Given the description of an element on the screen output the (x, y) to click on. 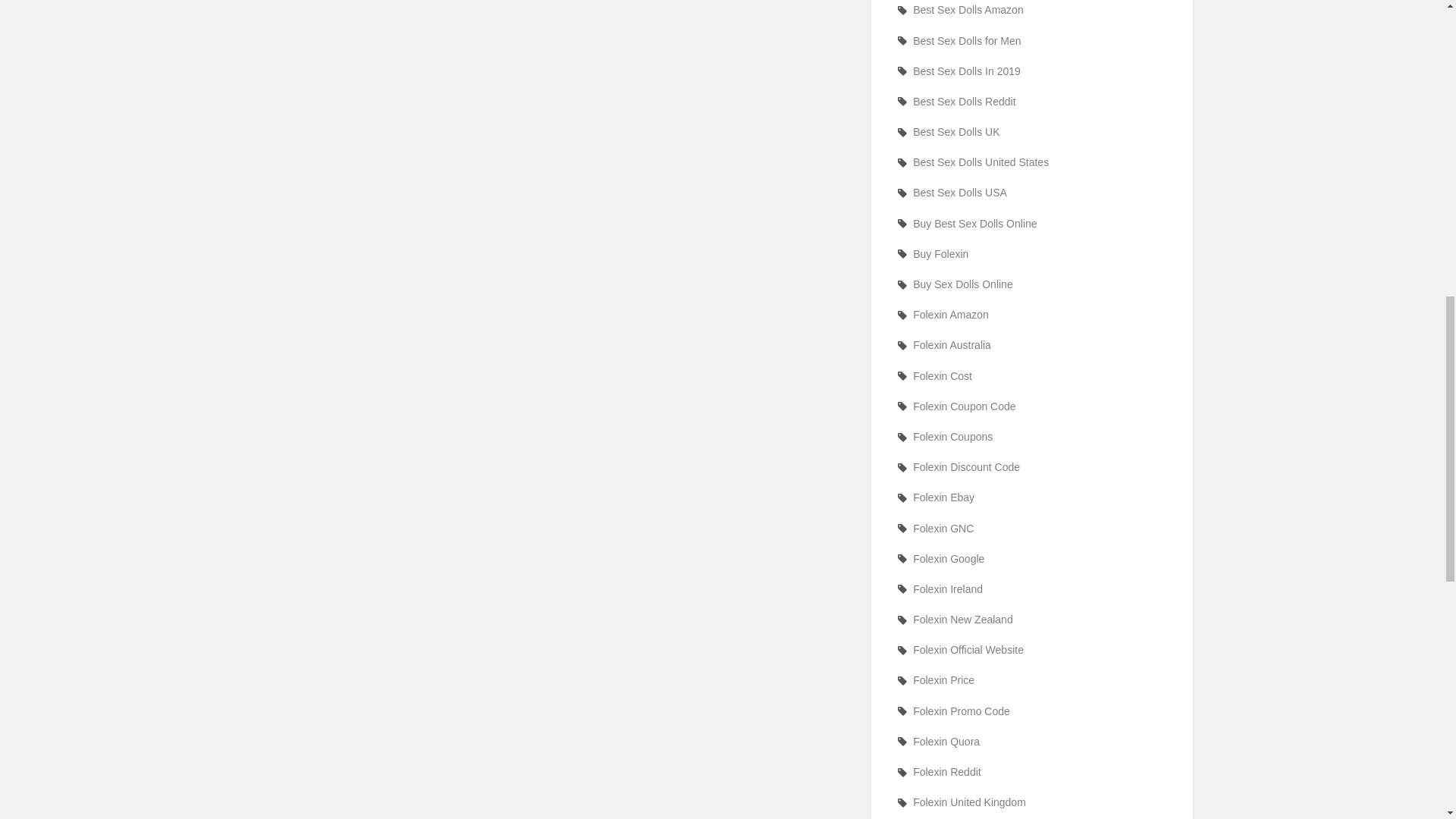
Best Sex Dolls Amazon (1032, 9)
